Given the description of an element on the screen output the (x, y) to click on. 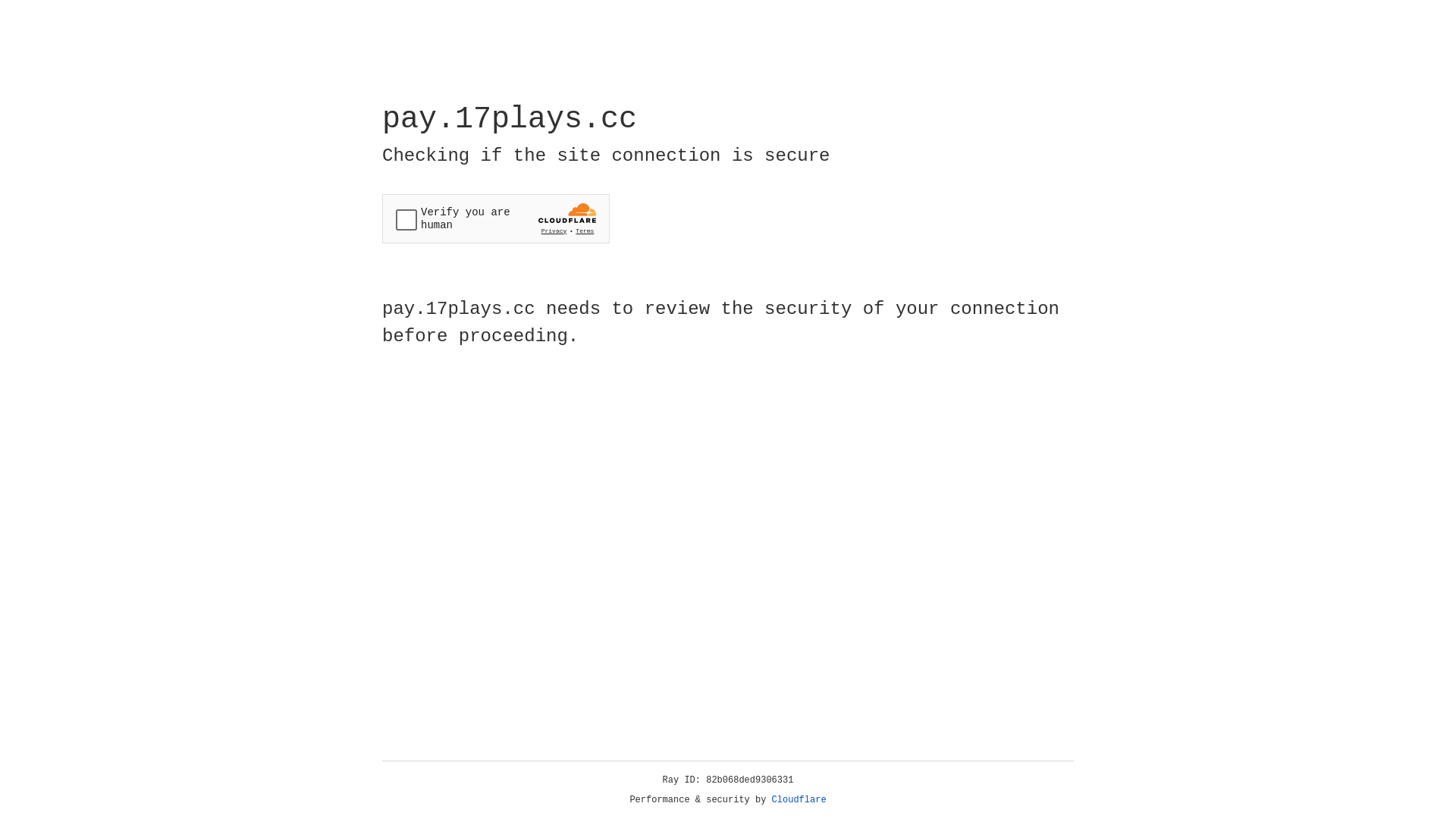
Cloudflare Element type: text (798, 799)
Widget containing a Cloudflare security challenge Element type: hover (495, 218)
